Given the description of an element on the screen output the (x, y) to click on. 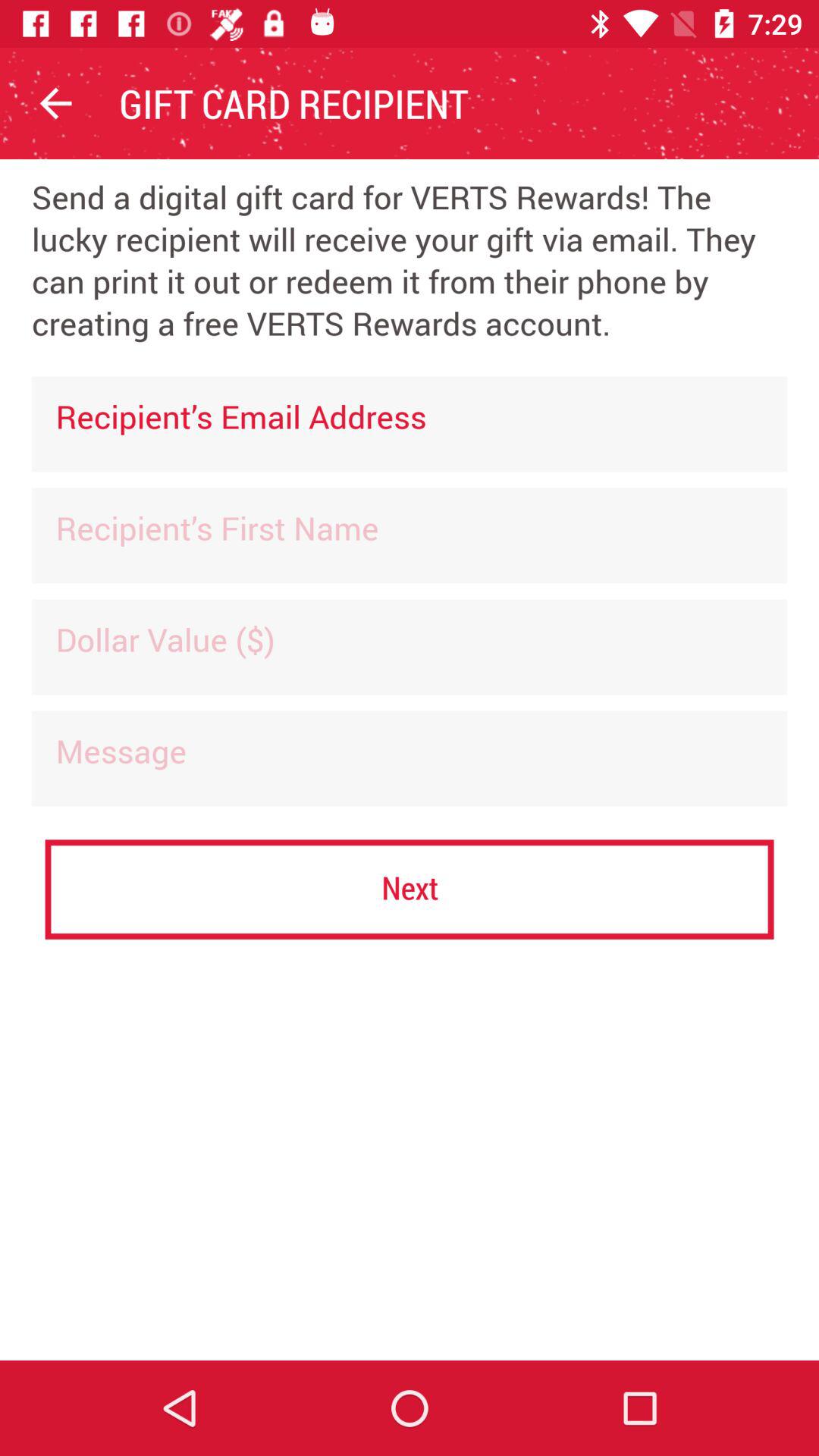
select the item to the left of the gift card recipient item (55, 103)
